Given the description of an element on the screen output the (x, y) to click on. 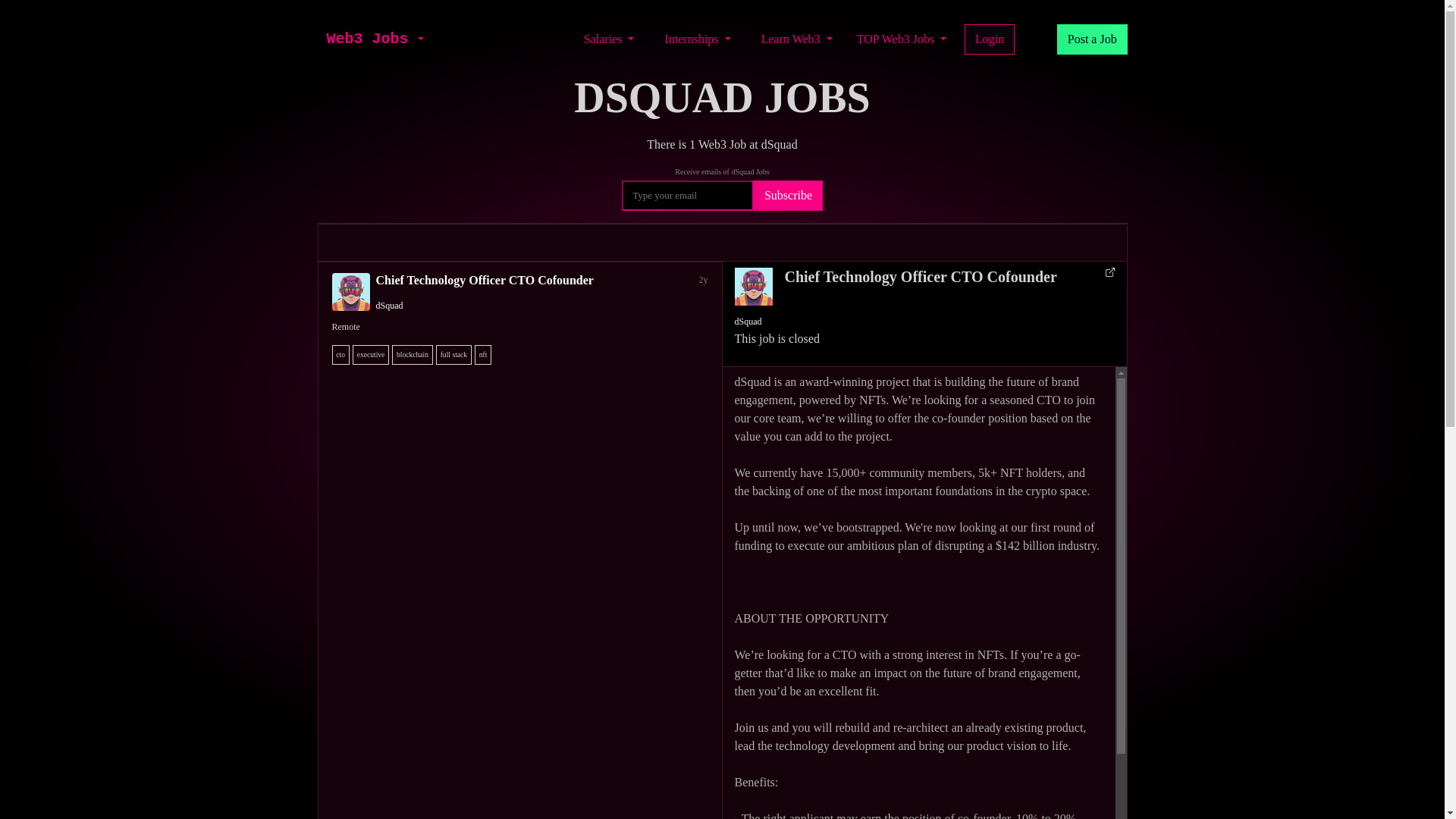
Learn Web3 (796, 39)
Salaries (609, 39)
Subscribe (788, 195)
Internships (697, 39)
Web3 Jobs (366, 39)
